Given the description of an element on the screen output the (x, y) to click on. 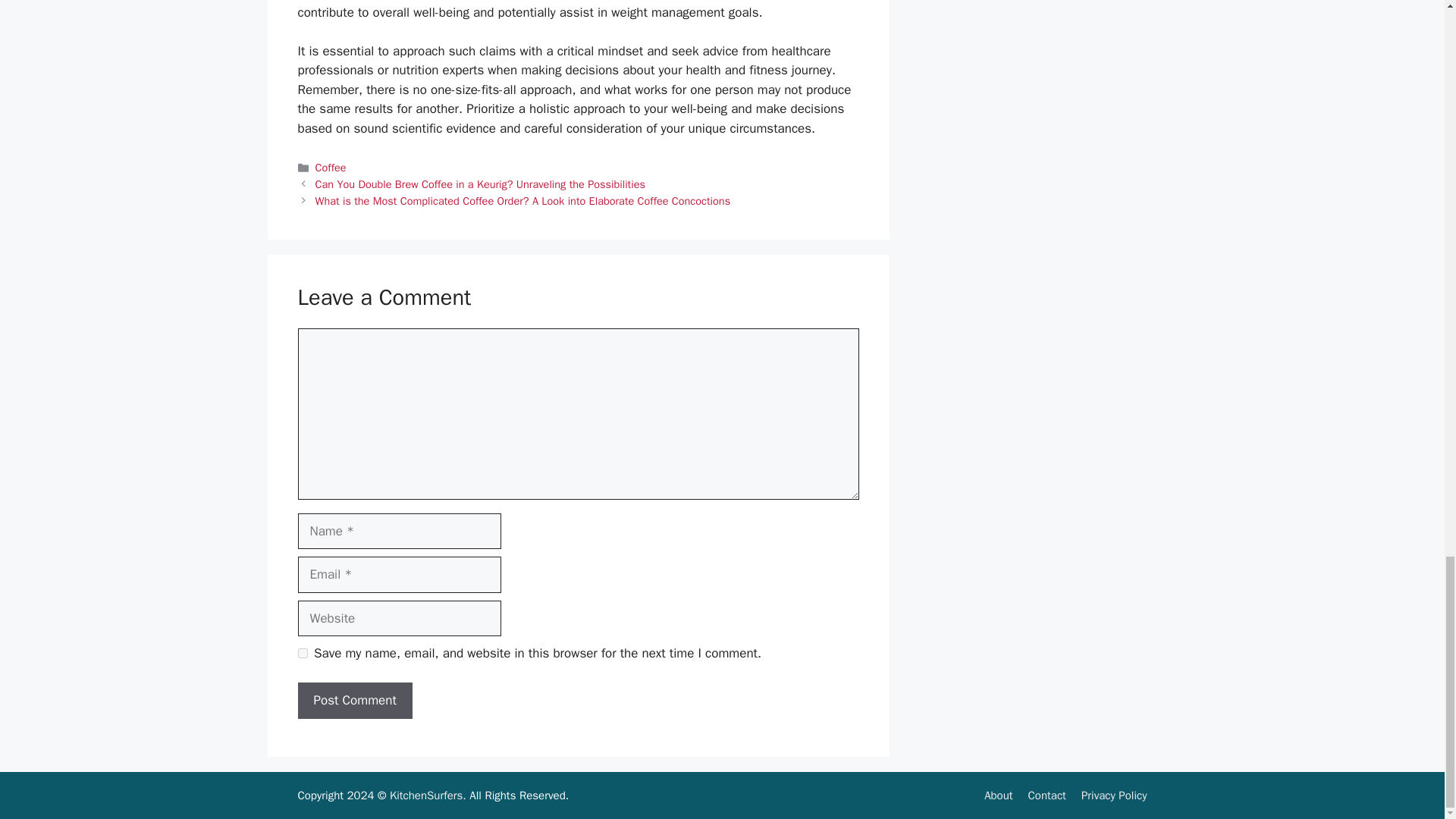
Post Comment (354, 700)
Contact (1046, 795)
Privacy Policy (1114, 795)
Post Comment (354, 700)
Coffee (330, 167)
About (997, 795)
yes (302, 653)
KitchenSurfers (426, 795)
